Given the description of an element on the screen output the (x, y) to click on. 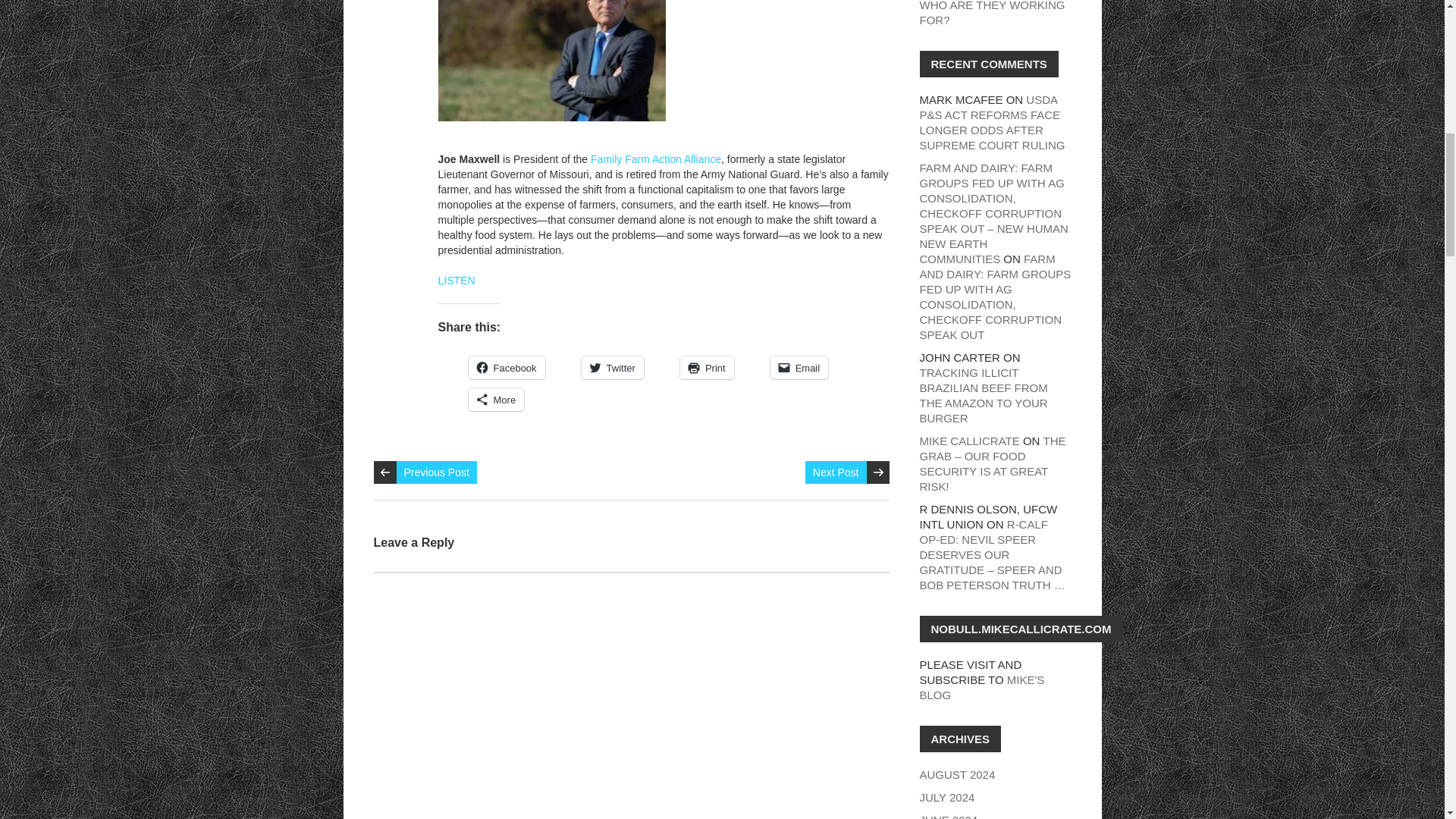
Twitter (611, 367)
WHO ARE THEY WORKING FOR? (991, 13)
LISTEN (457, 280)
Email (799, 367)
MIKE'S BLOG (980, 687)
image004-1-jpg (551, 60)
Click to share on Twitter (611, 367)
Print (706, 367)
